Given the description of an element on the screen output the (x, y) to click on. 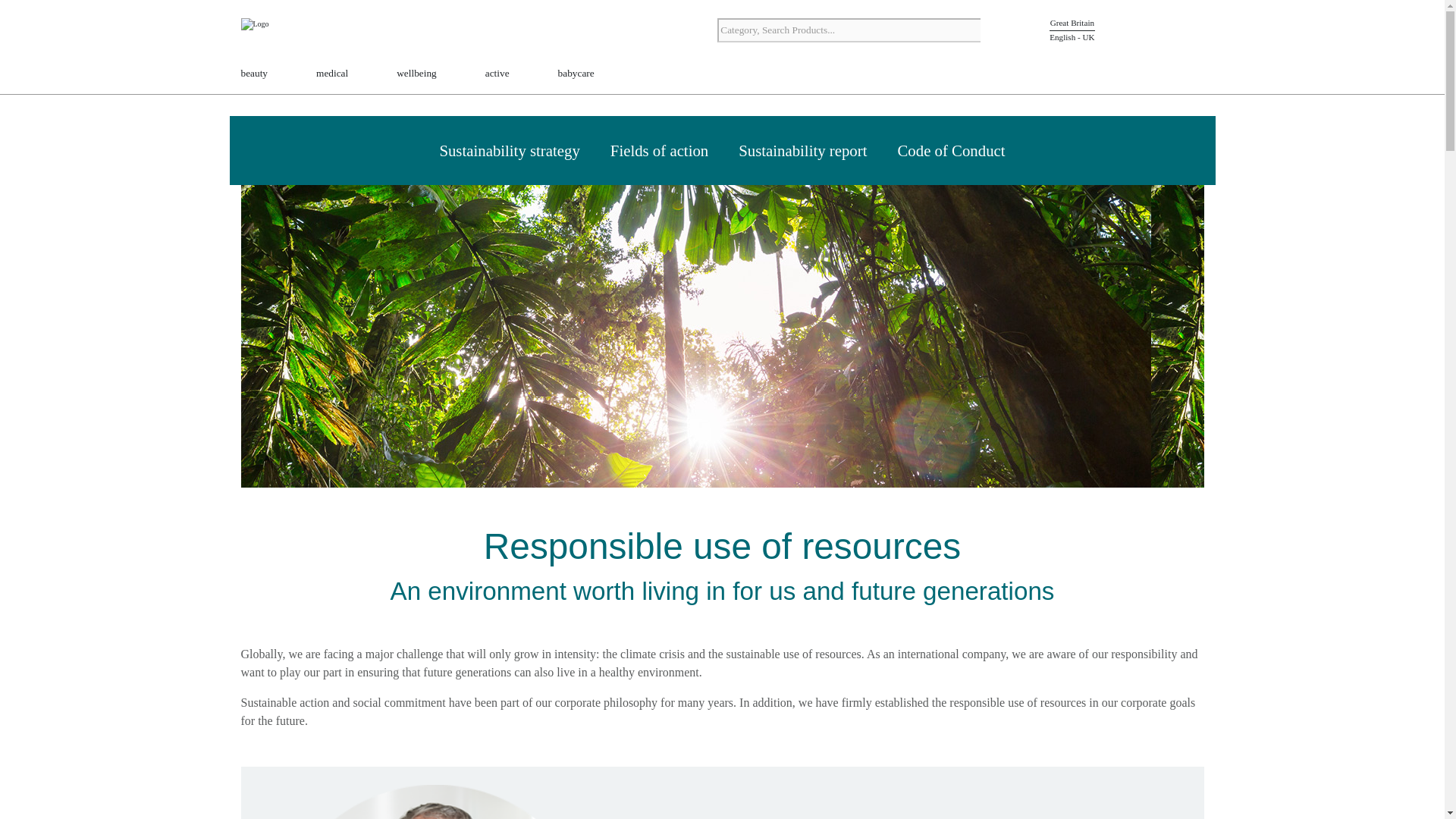
medical (331, 73)
babycare (575, 73)
active (496, 73)
beauty (254, 73)
wellbeing (416, 73)
beauty (254, 73)
Logo (287, 31)
